Given the description of an element on the screen output the (x, y) to click on. 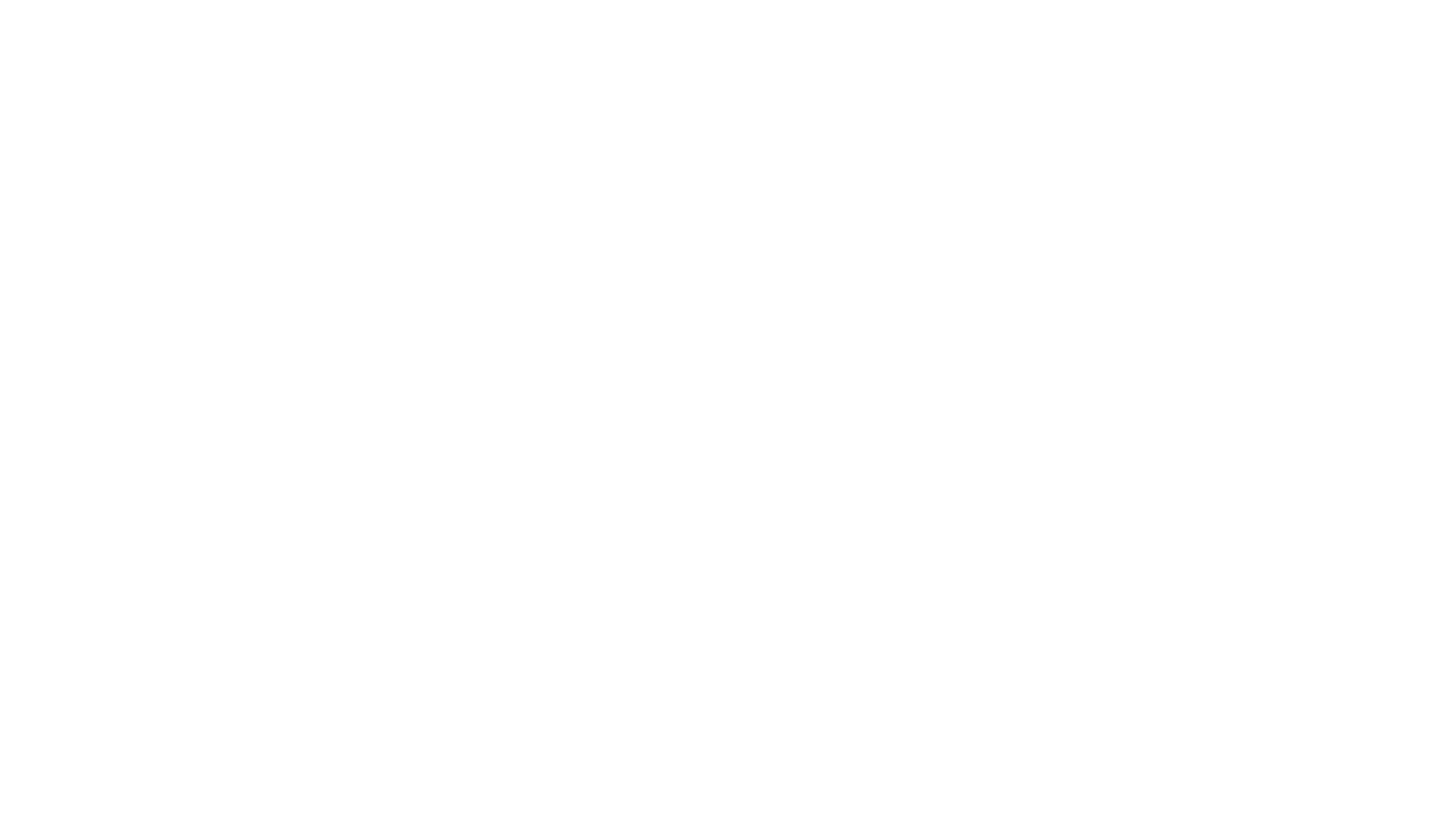
Take me to 24Petcare.com Element type: text (587, 305)
24Petcare.com Element type: text (931, 242)
Take me to 24Petcare.com Element type: text (587, 306)
